Given the description of an element on the screen output the (x, y) to click on. 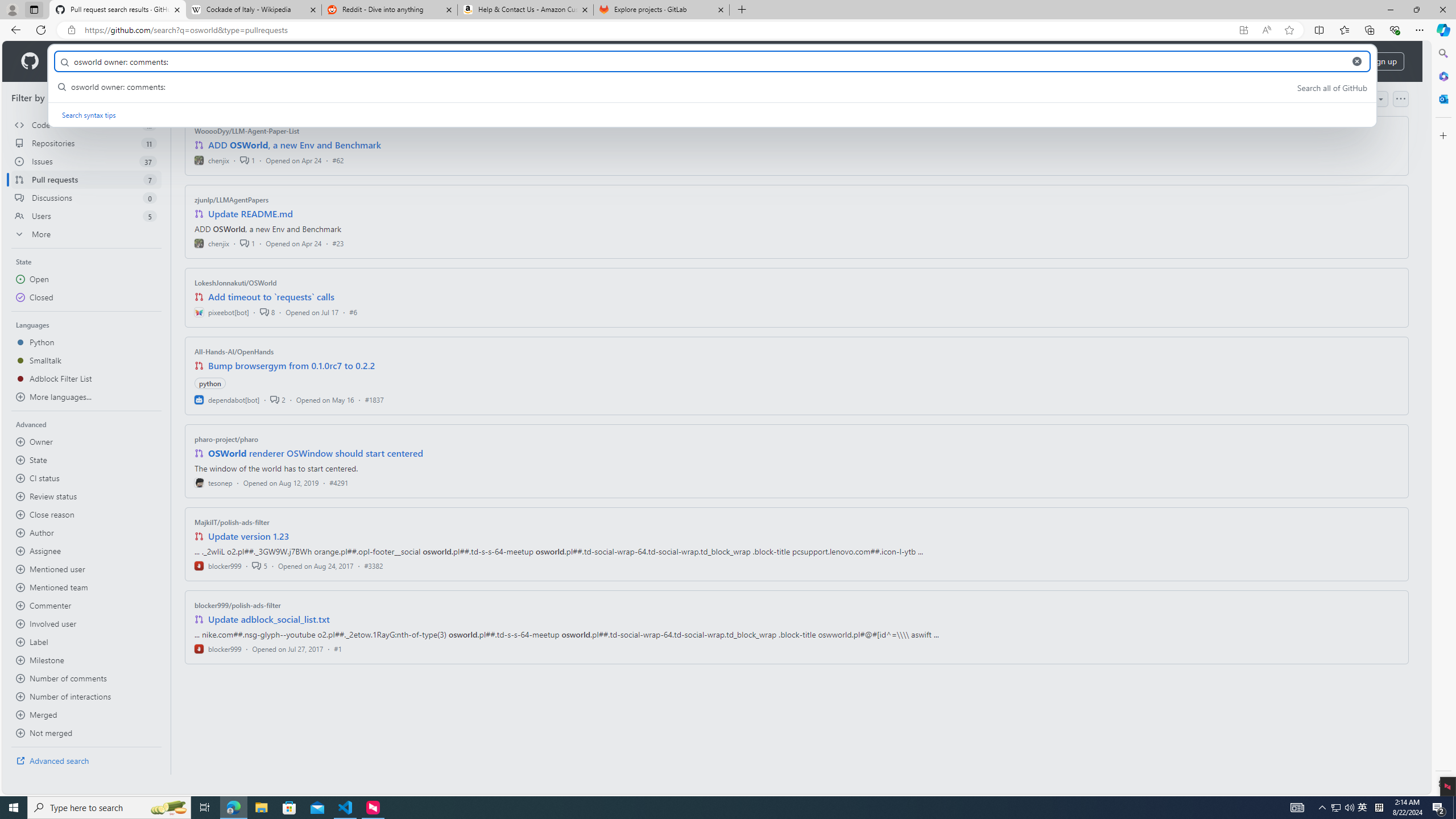
#6 (352, 311)
pharo-project/pharo (226, 438)
#4291 (338, 482)
